Given the description of an element on the screen output the (x, y) to click on. 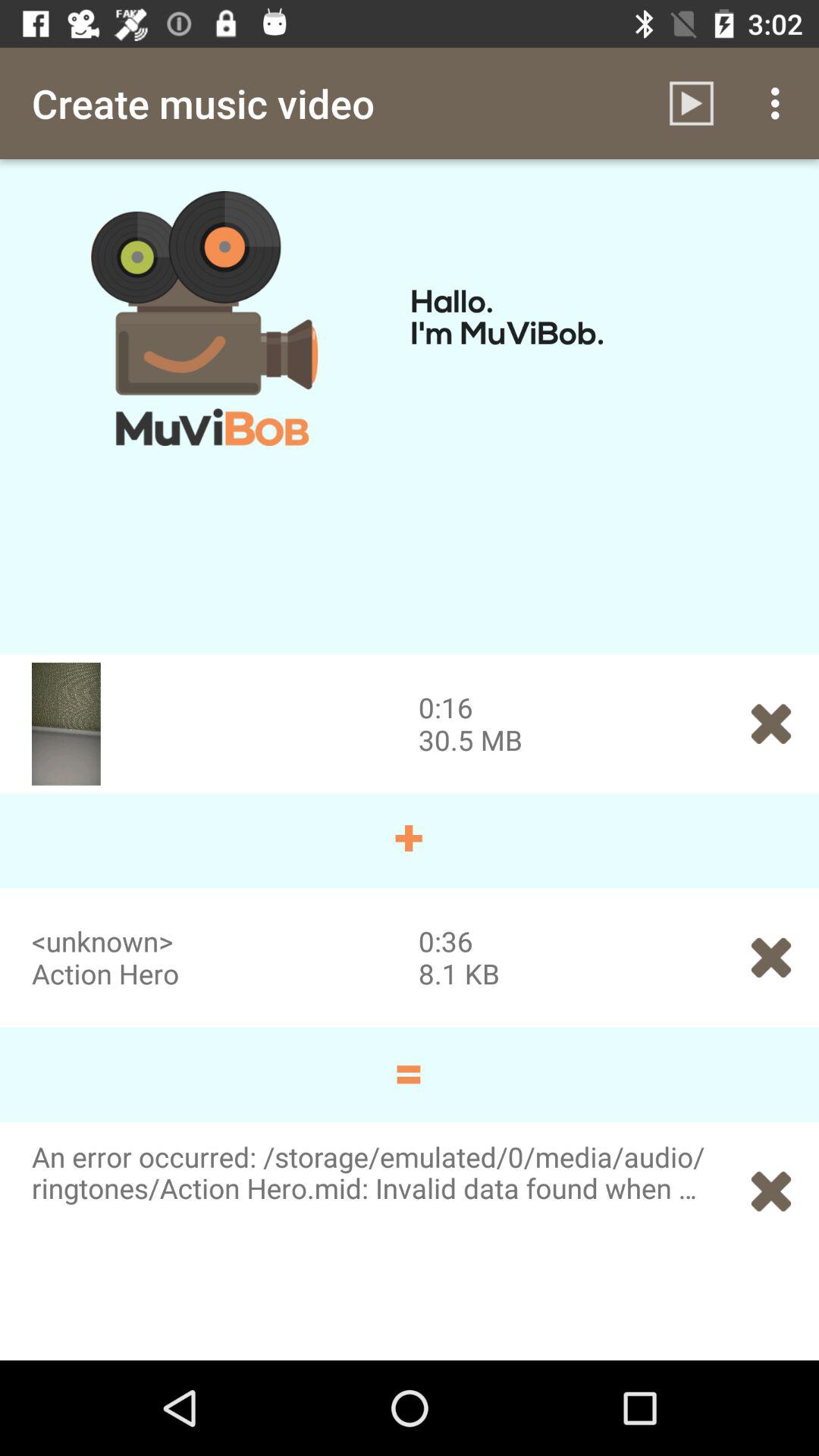
turn on item next to an error occurred icon (771, 1191)
